Given the description of an element on the screen output the (x, y) to click on. 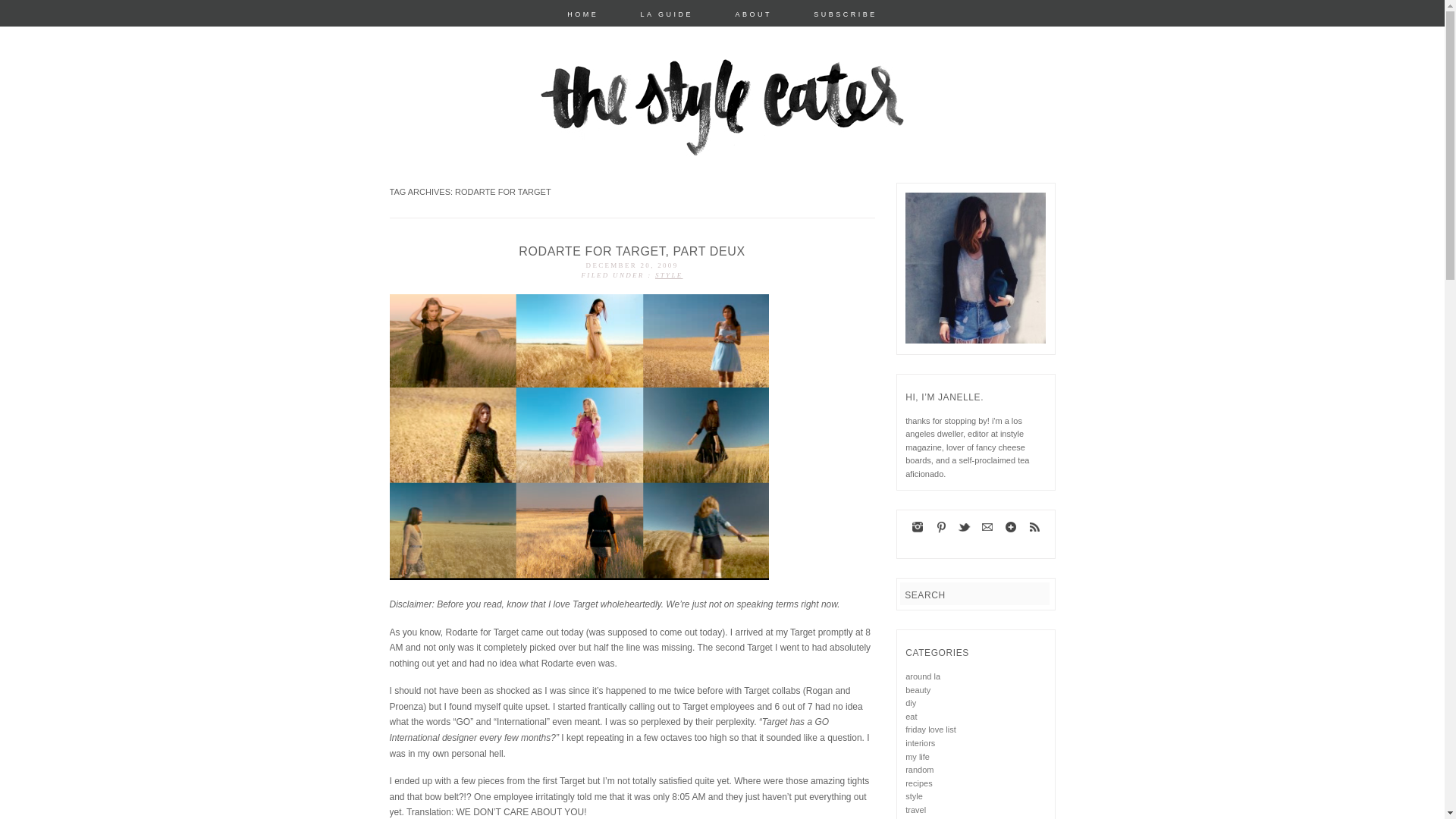
The Style Eater (483, 229)
LA GUIDE (667, 14)
STYLE (668, 275)
Search (21, 11)
the style eater (483, 229)
LA GUIDE (667, 14)
SUBSCRIBE (845, 14)
beauty (917, 689)
interiors (919, 742)
rodarte2 (579, 436)
SUBSCRIBE (845, 14)
RODARTE FOR TARGET, PART DEUX (631, 250)
around la (922, 675)
ABOUT (753, 14)
